Given the description of an element on the screen output the (x, y) to click on. 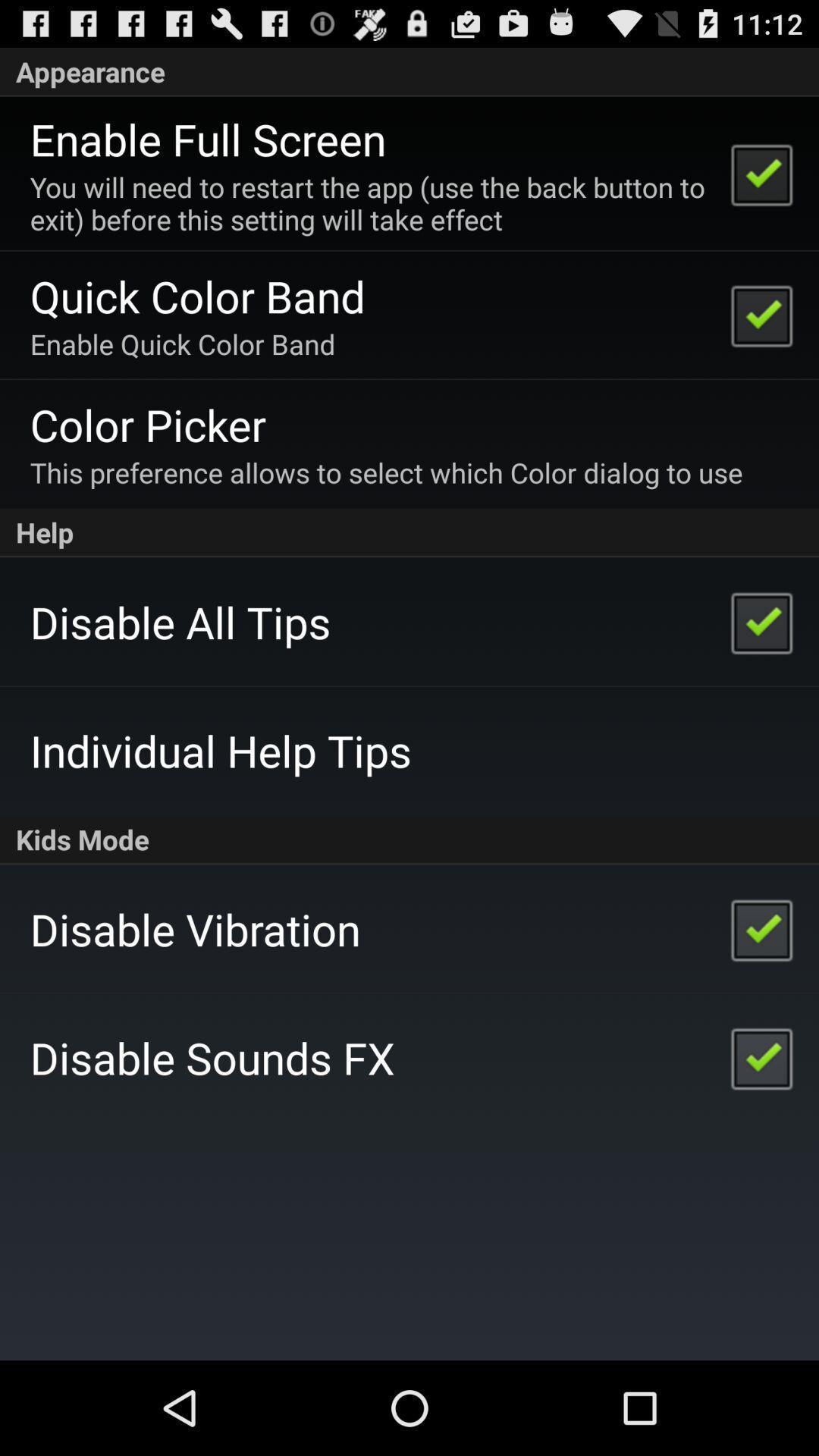
choose appearance (409, 71)
